Given the description of an element on the screen output the (x, y) to click on. 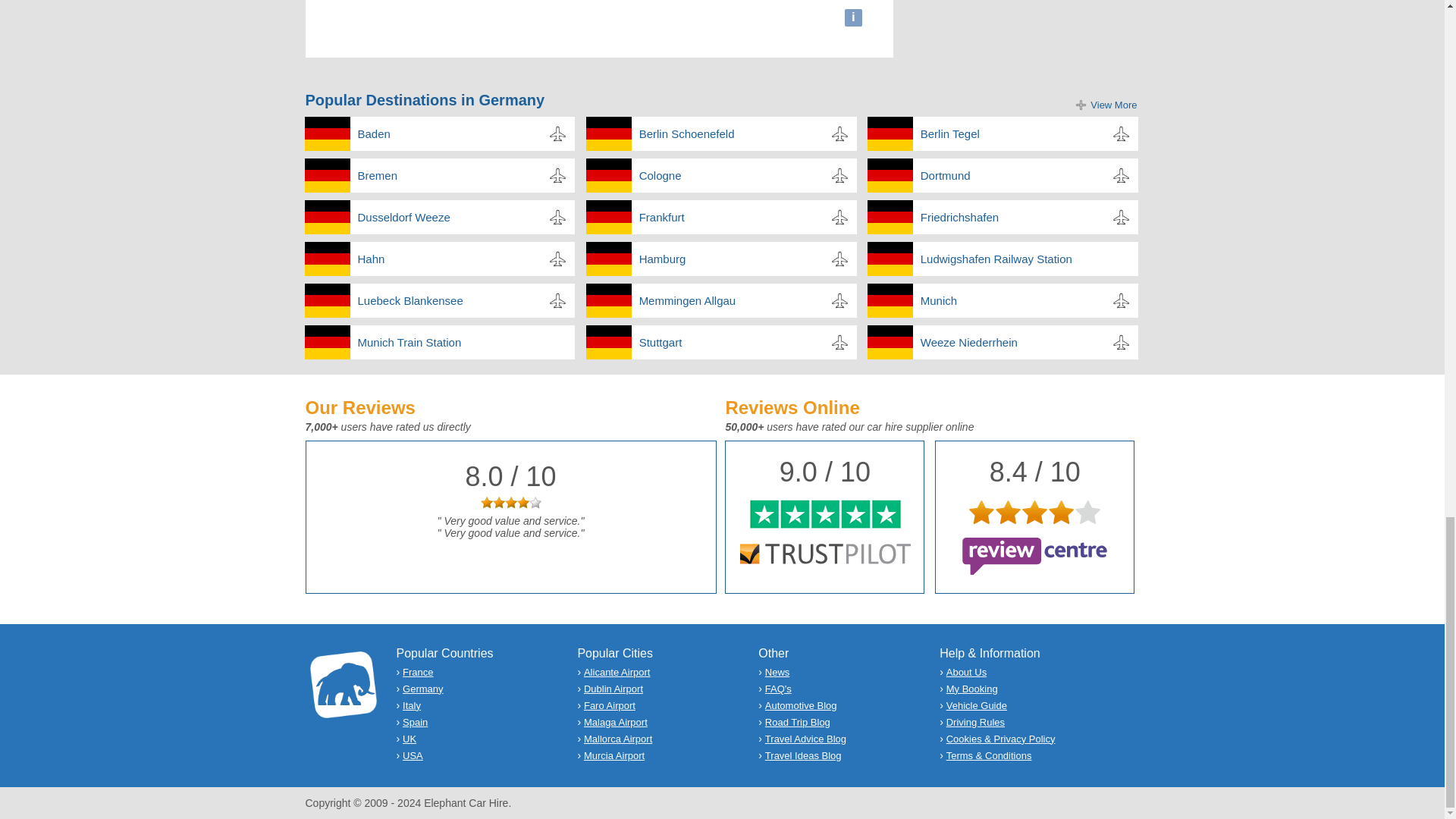
i (853, 18)
Attributions (853, 18)
